Given the description of an element on the screen output the (x, y) to click on. 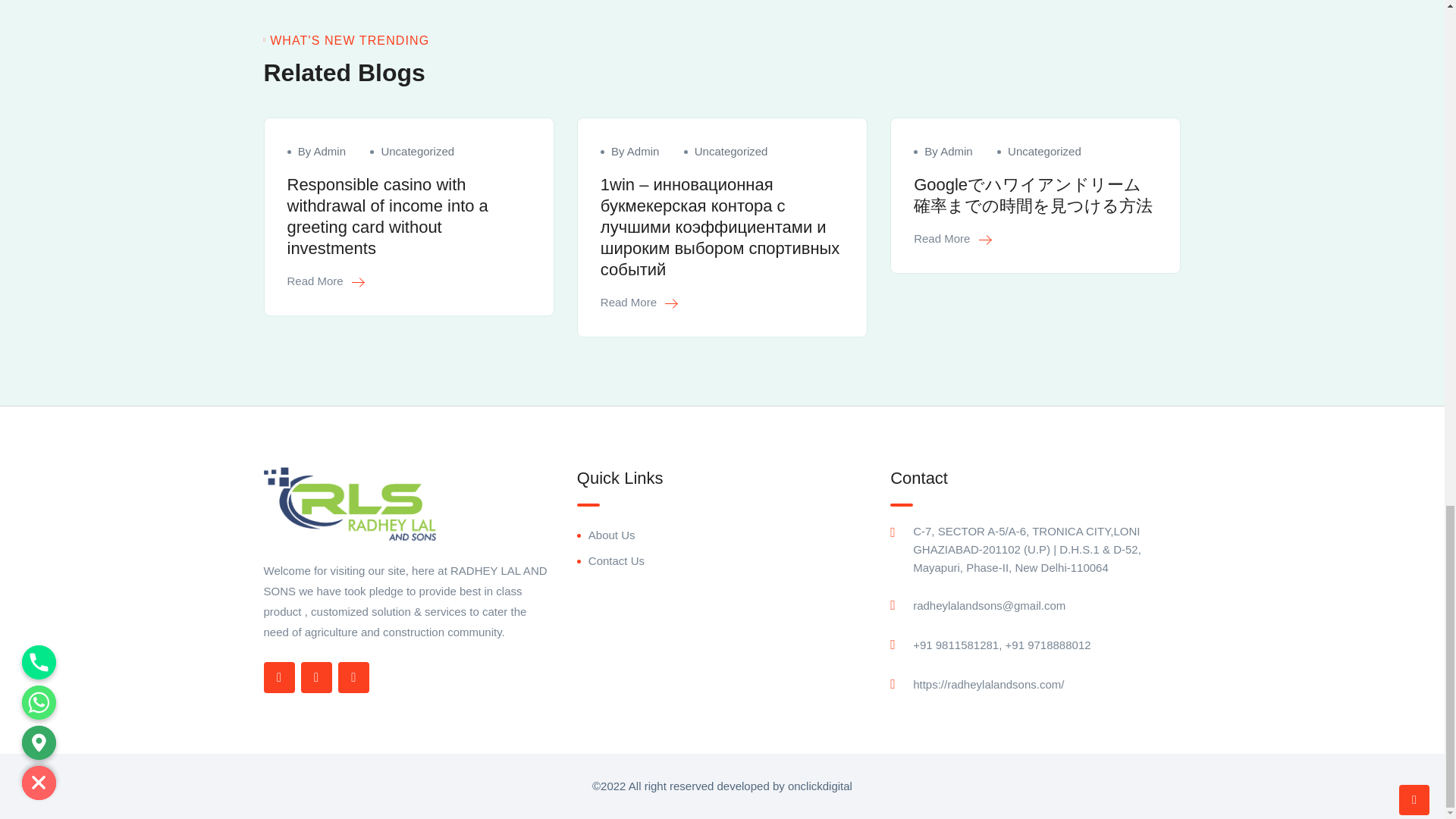
Uncategorized (417, 151)
By Admin (322, 151)
